Given the description of an element on the screen output the (x, y) to click on. 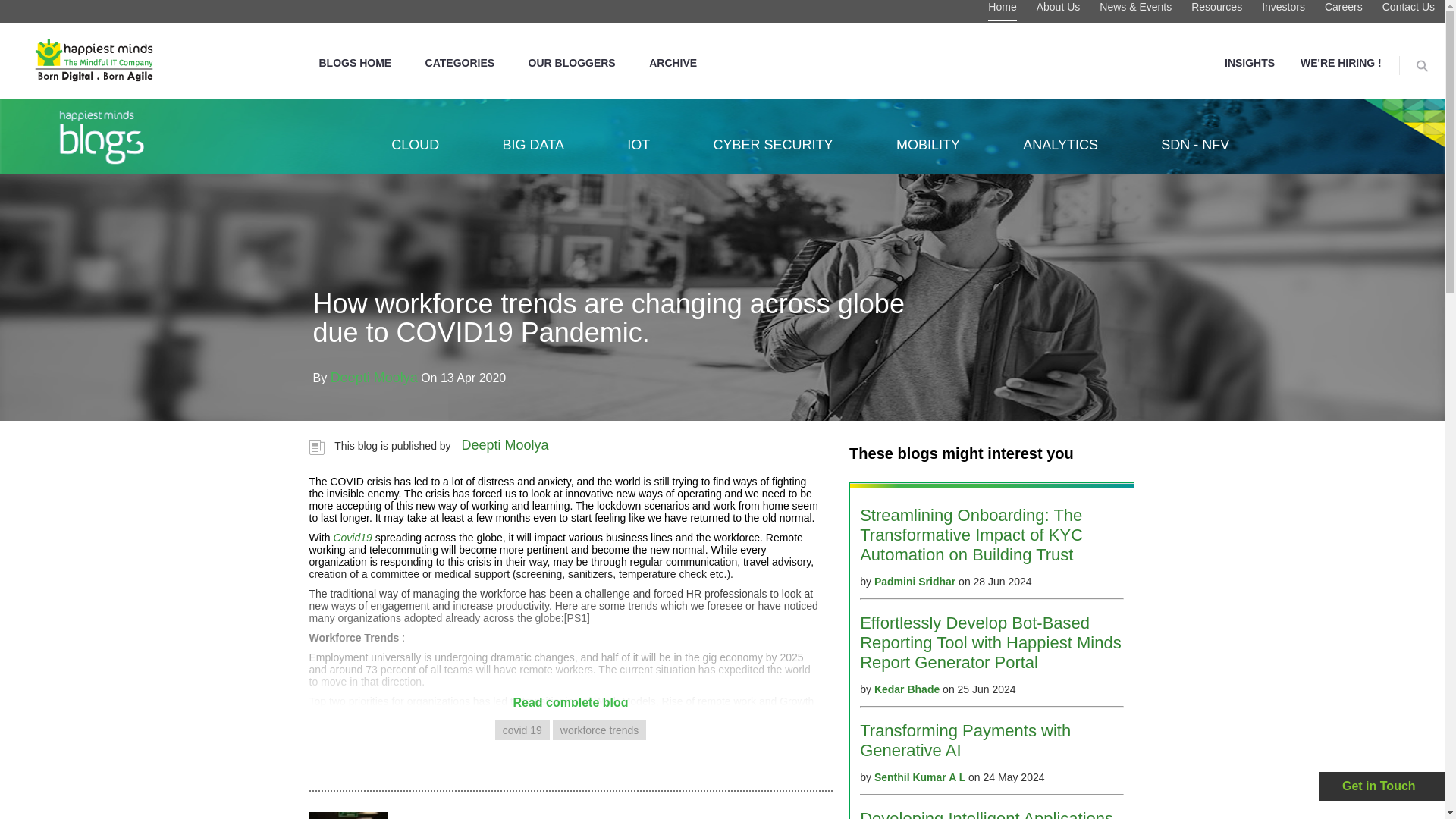
CATEGORIES (460, 62)
Investors (1283, 10)
Home (1002, 10)
BLOGS HOME (354, 62)
Posts by Deepti Moolya (504, 444)
Careers (1343, 10)
Happiest Minds (93, 59)
Posts by Deepti Moolya (373, 377)
Contact Us (1407, 10)
Resources (1216, 10)
About Us (1058, 10)
WE'RE HIRING ! (1340, 62)
INSIGHTS (1249, 62)
contact us (1383, 786)
